Given the description of an element on the screen output the (x, y) to click on. 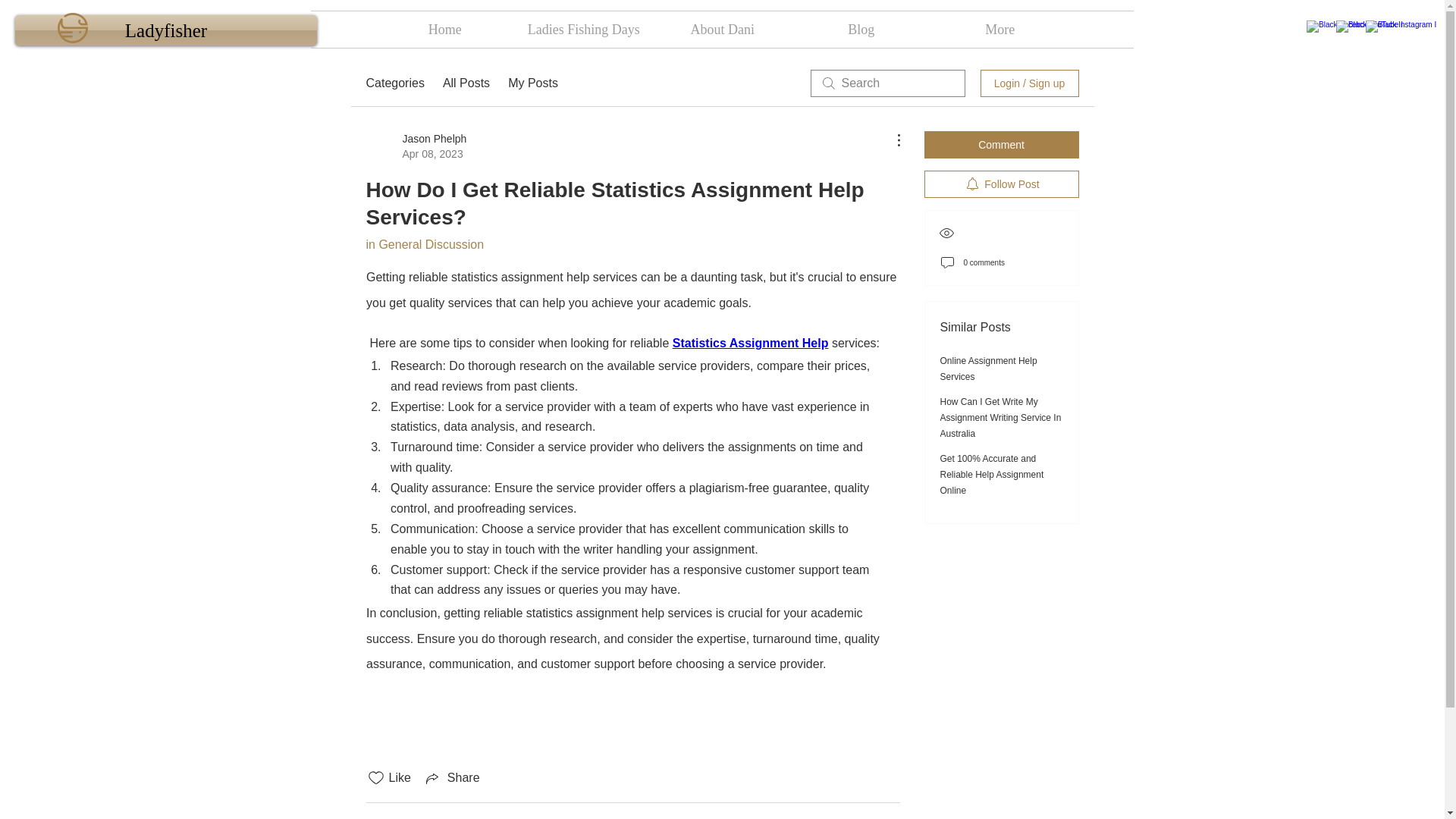
Ladies Fishing Days (582, 29)
Home (444, 29)
Follow Post (1000, 184)
in General Discussion (424, 244)
Share (451, 778)
My Posts (532, 83)
Online Assignment Help Services (988, 368)
Categories (394, 83)
All Posts (465, 83)
Comment (1000, 144)
Ladyfisher (165, 30)
Blog (861, 29)
Statistics Assignment Help (749, 342)
About Dani (722, 29)
